Given the description of an element on the screen output the (x, y) to click on. 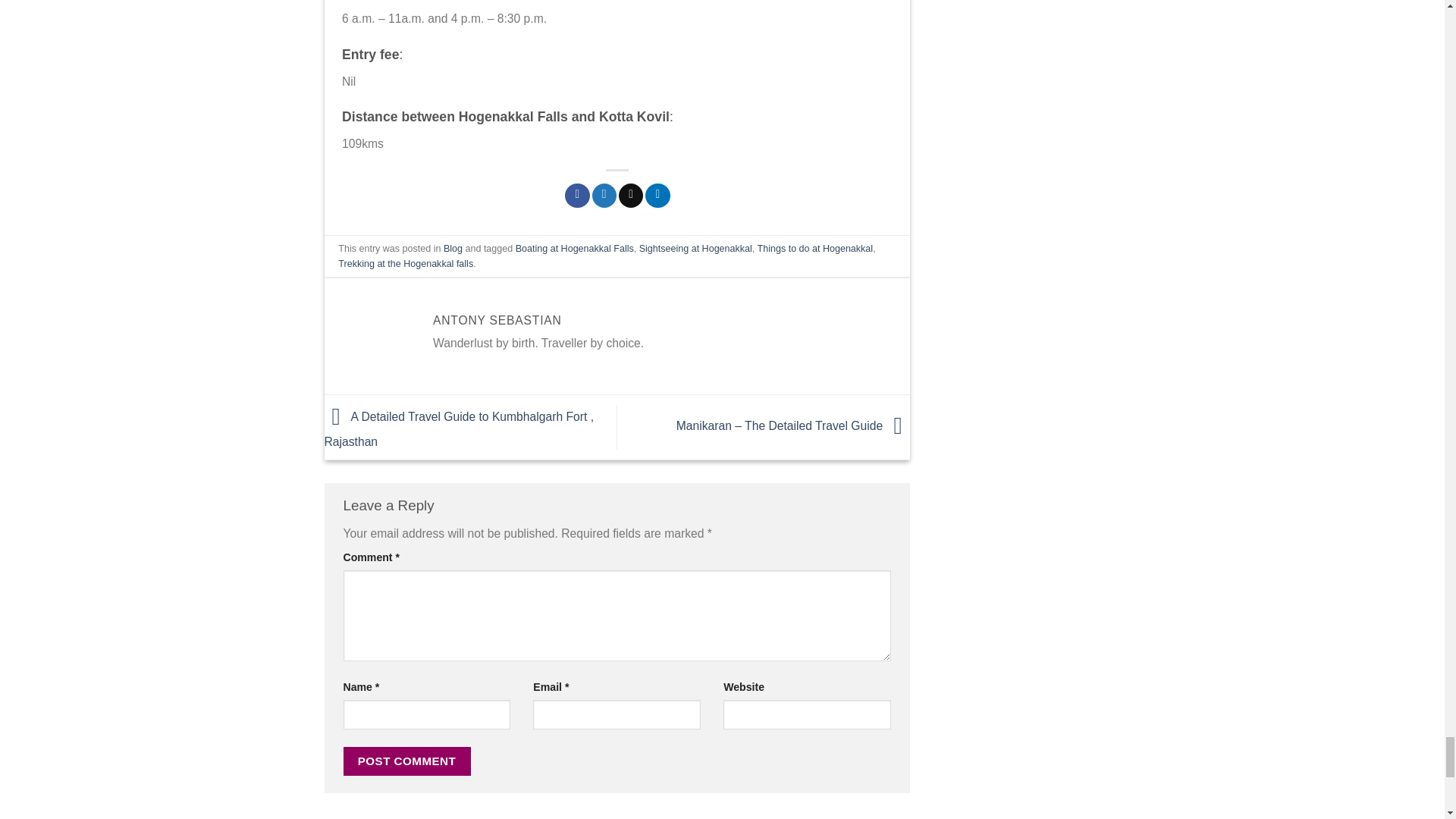
Post Comment (406, 761)
